Given the description of an element on the screen output the (x, y) to click on. 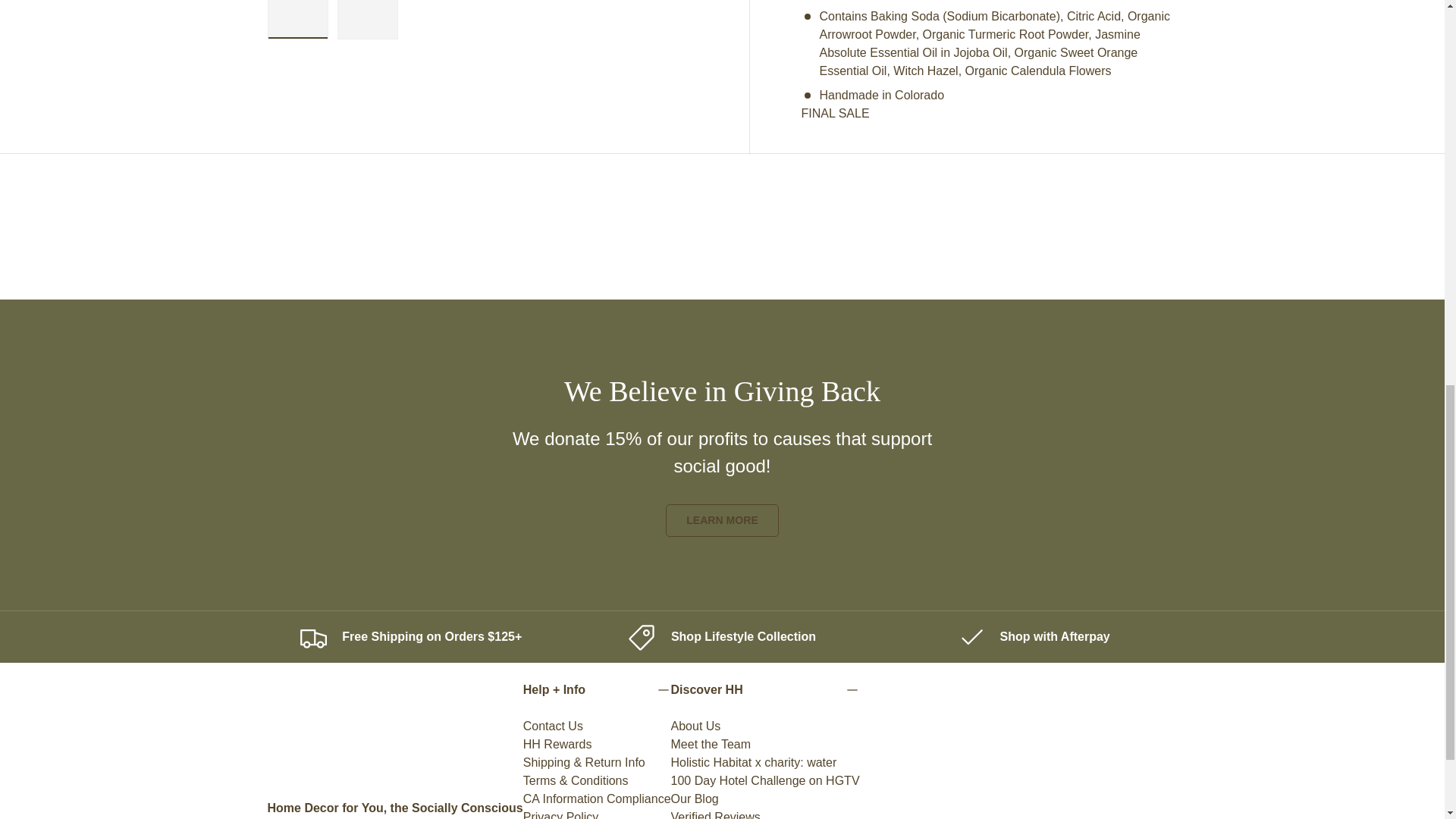
Holistic Habitat  on Pinterest (376, 817)
Holistic Habitat  on TikTok (342, 817)
Holistic Habitat  on Instagram (309, 817)
Holistic Habitat  on Facebook (275, 817)
